Given the description of an element on the screen output the (x, y) to click on. 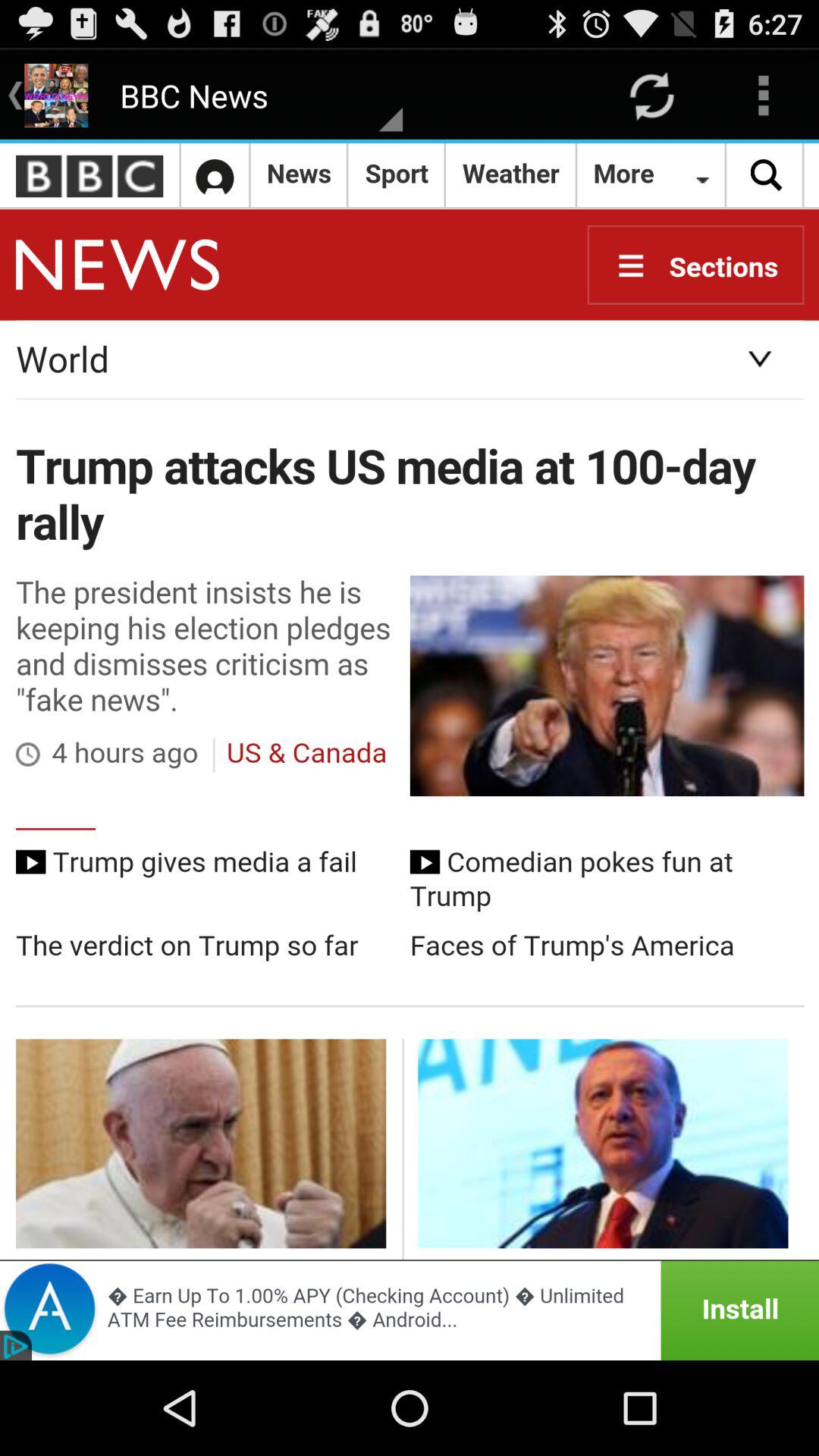
advertisement page (409, 1310)
